Given the description of an element on the screen output the (x, y) to click on. 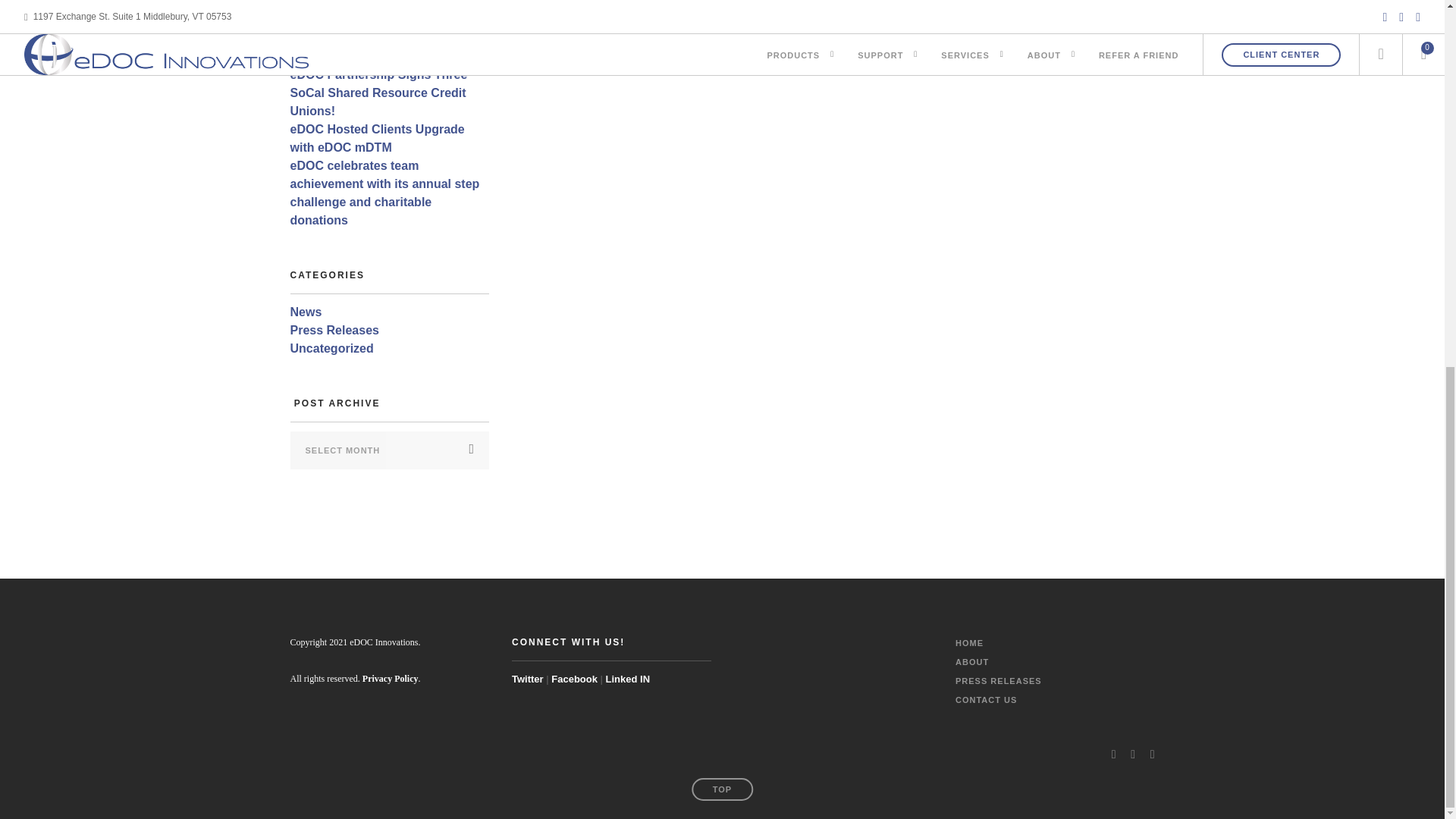
eDOC and VisiFI Launch an e-Sign Collaboration (388, 47)
